Given the description of an element on the screen output the (x, y) to click on. 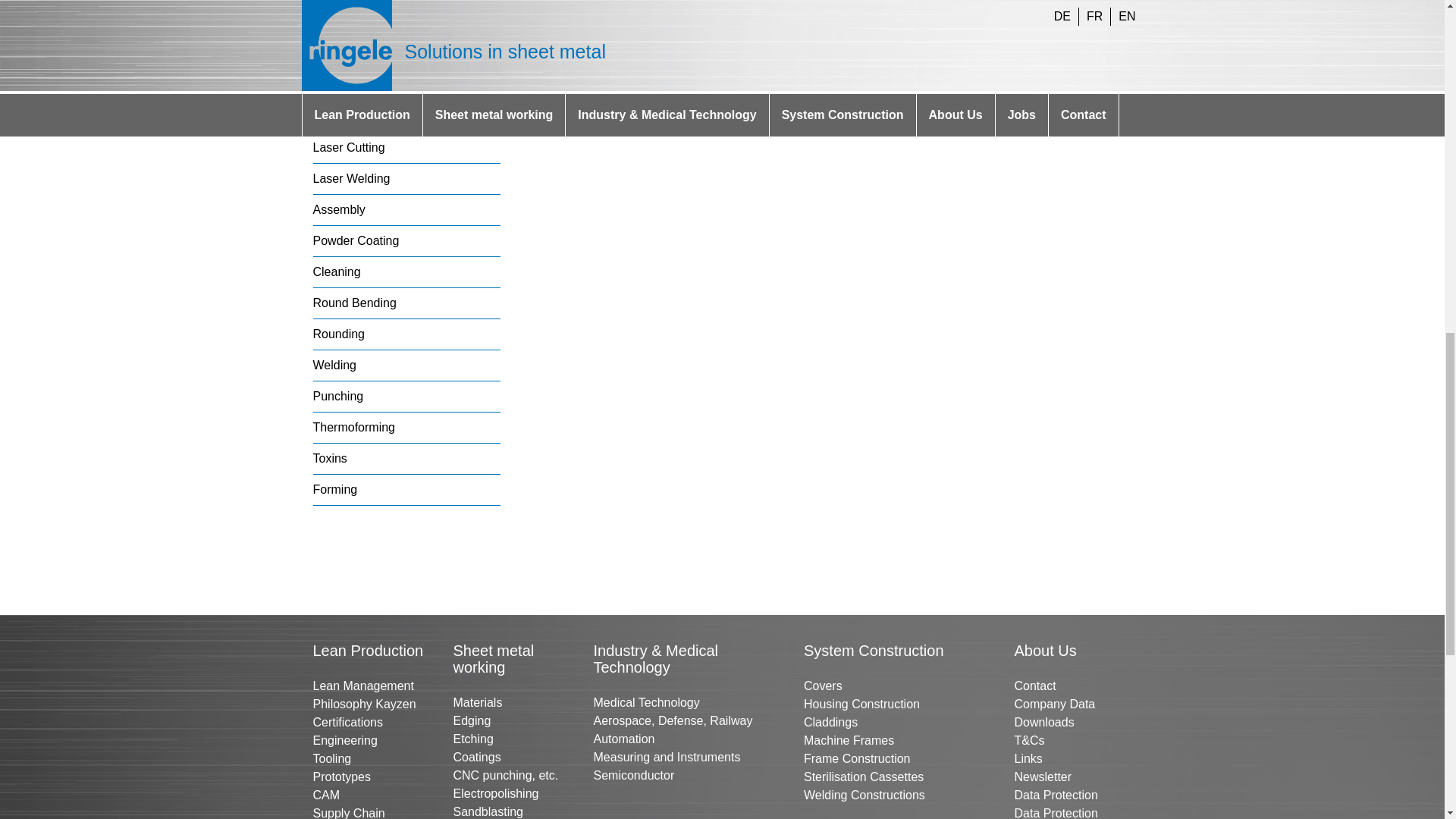
Punching (337, 395)
Painting (334, 115)
Round Bending (354, 302)
Laser Cutting (348, 146)
Rounding (339, 333)
Thermoforming (353, 427)
Welding (334, 364)
Bonding (334, 84)
Powder Coating (355, 240)
Marking (334, 53)
